Given the description of an element on the screen output the (x, y) to click on. 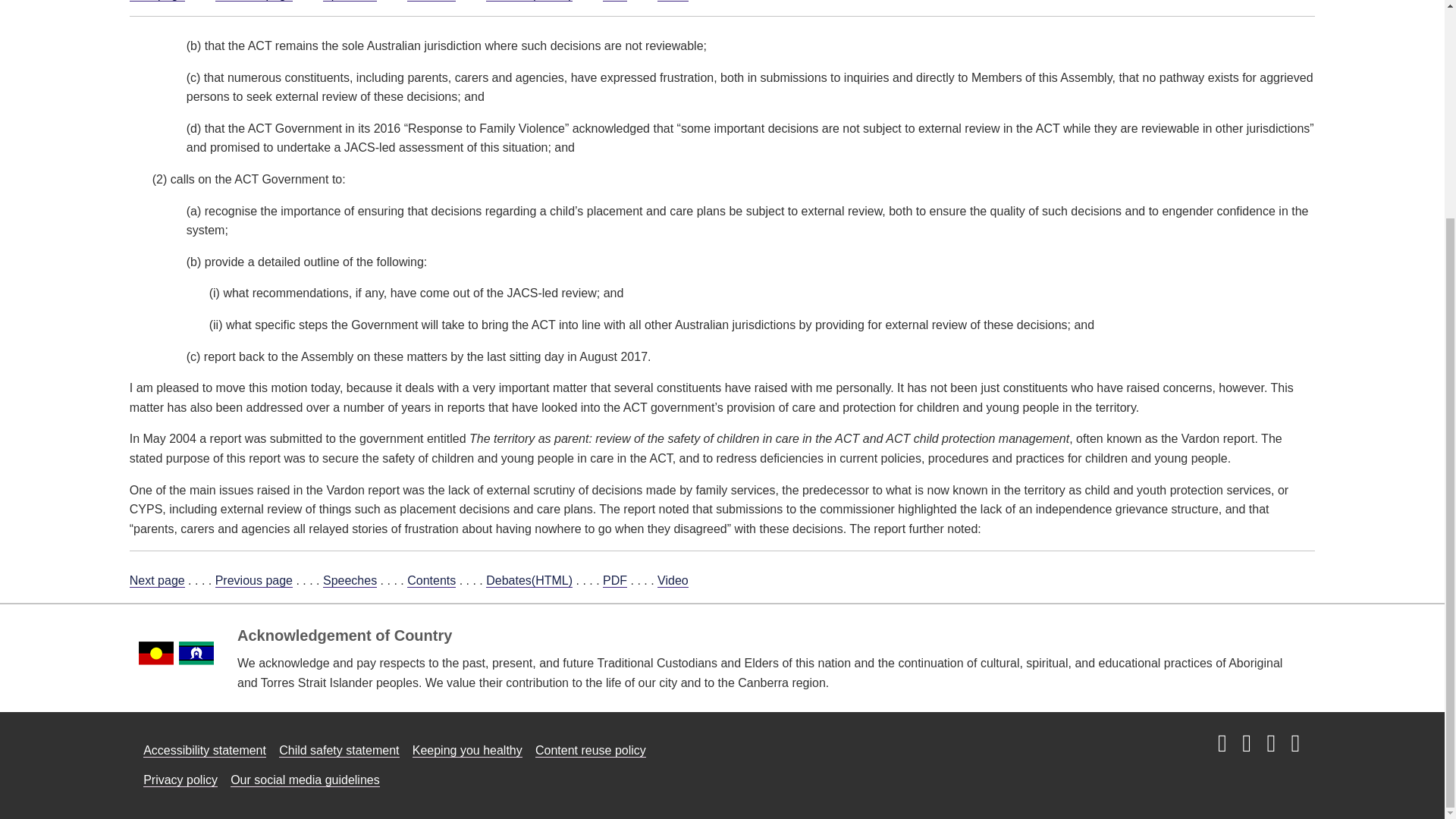
PDF (614, 0)
Previous page (253, 0)
Read our access and inclusion statement (204, 750)
Speeches (350, 0)
Video (673, 0)
Privacy policy (179, 780)
Child safety statement (338, 750)
Read our privacy policy (179, 780)
Read our child safety committment (338, 750)
Speeches (350, 581)
